Given the description of an element on the screen output the (x, y) to click on. 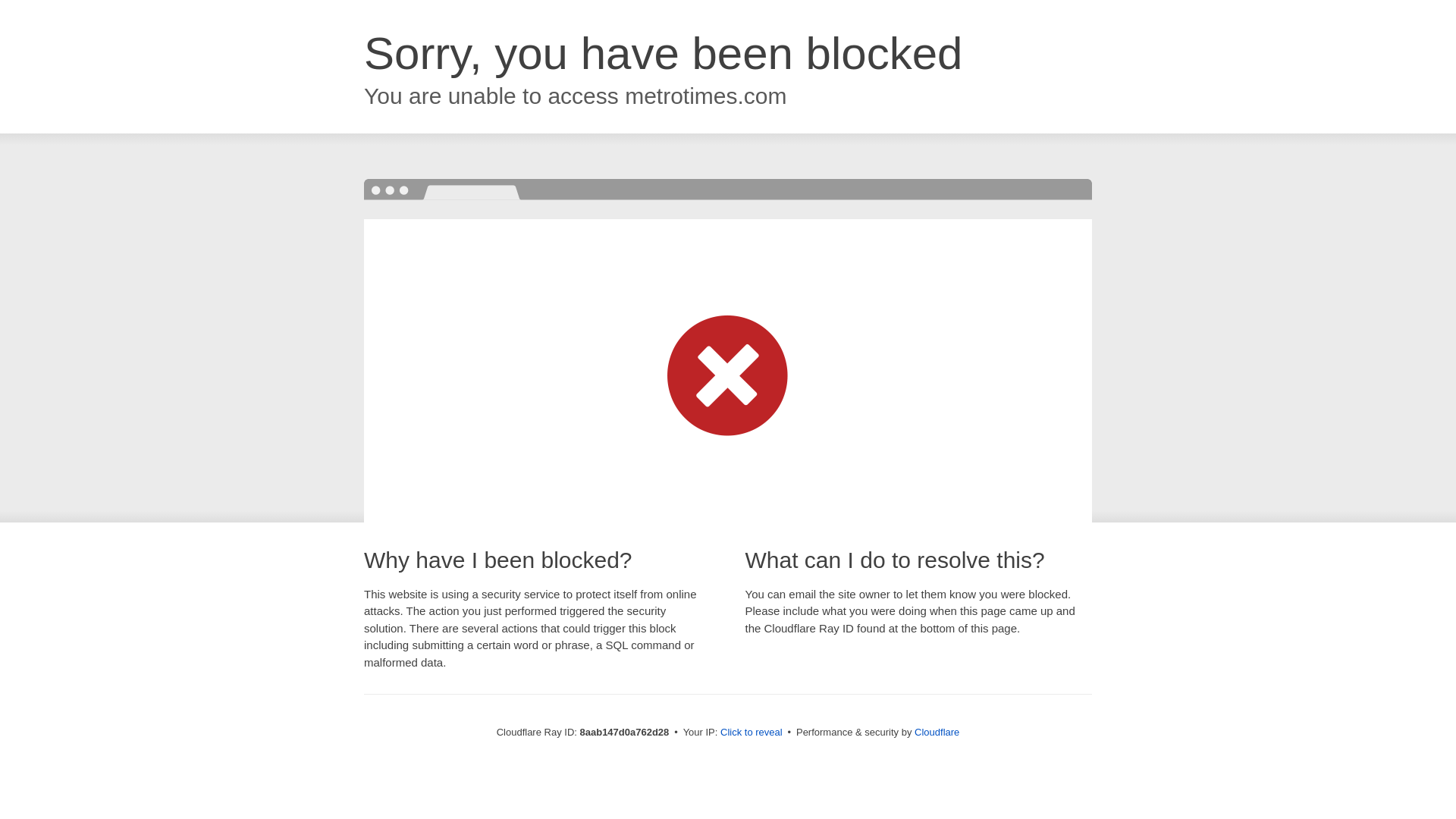
Click to reveal (751, 732)
Cloudflare (936, 731)
